Given the description of an element on the screen output the (x, y) to click on. 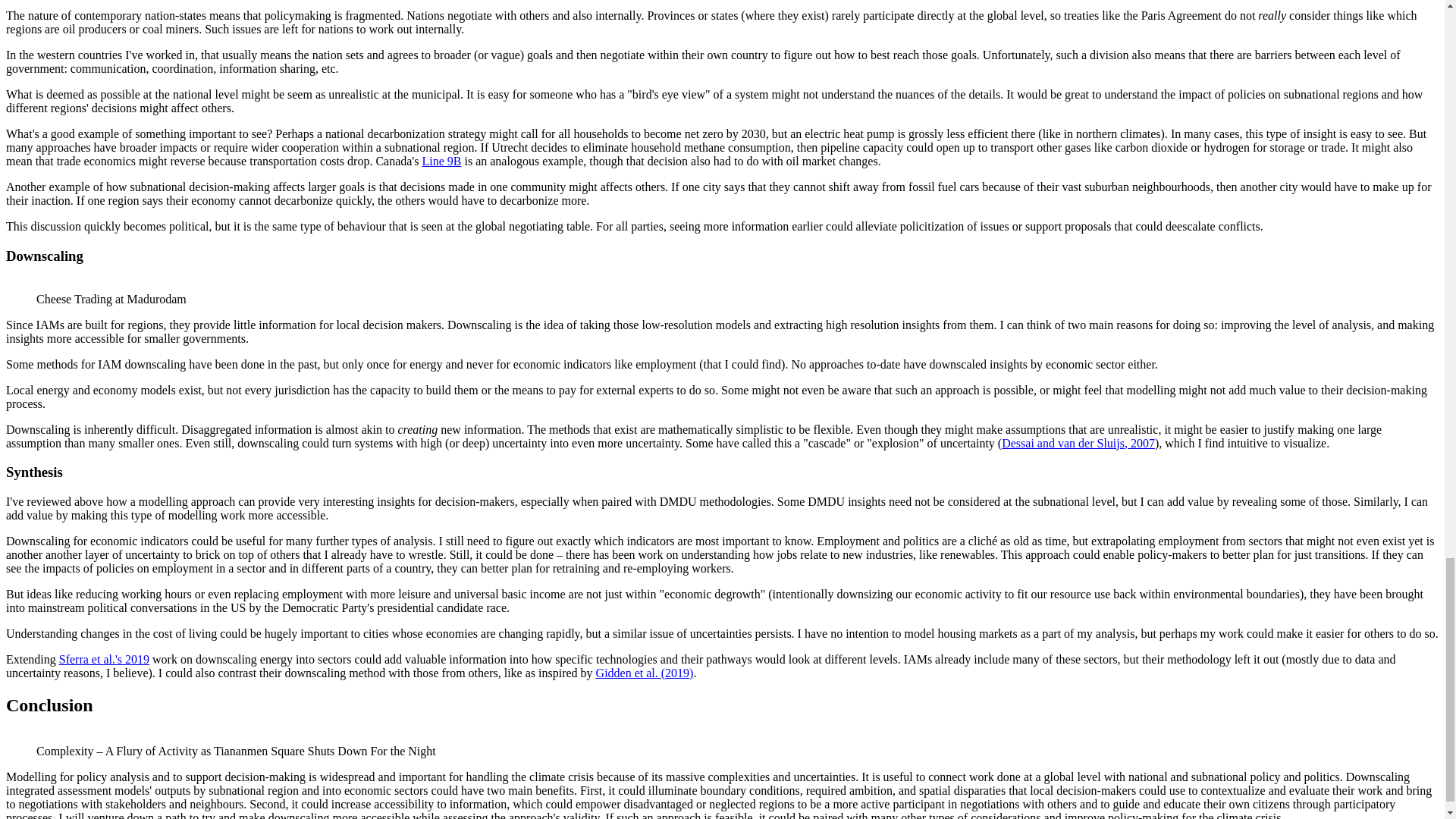
Dessai and van der Sluijs, 2007 (1077, 441)
Sferra et al.'s 2019 (104, 658)
Line 9B (441, 160)
